Given the description of an element on the screen output the (x, y) to click on. 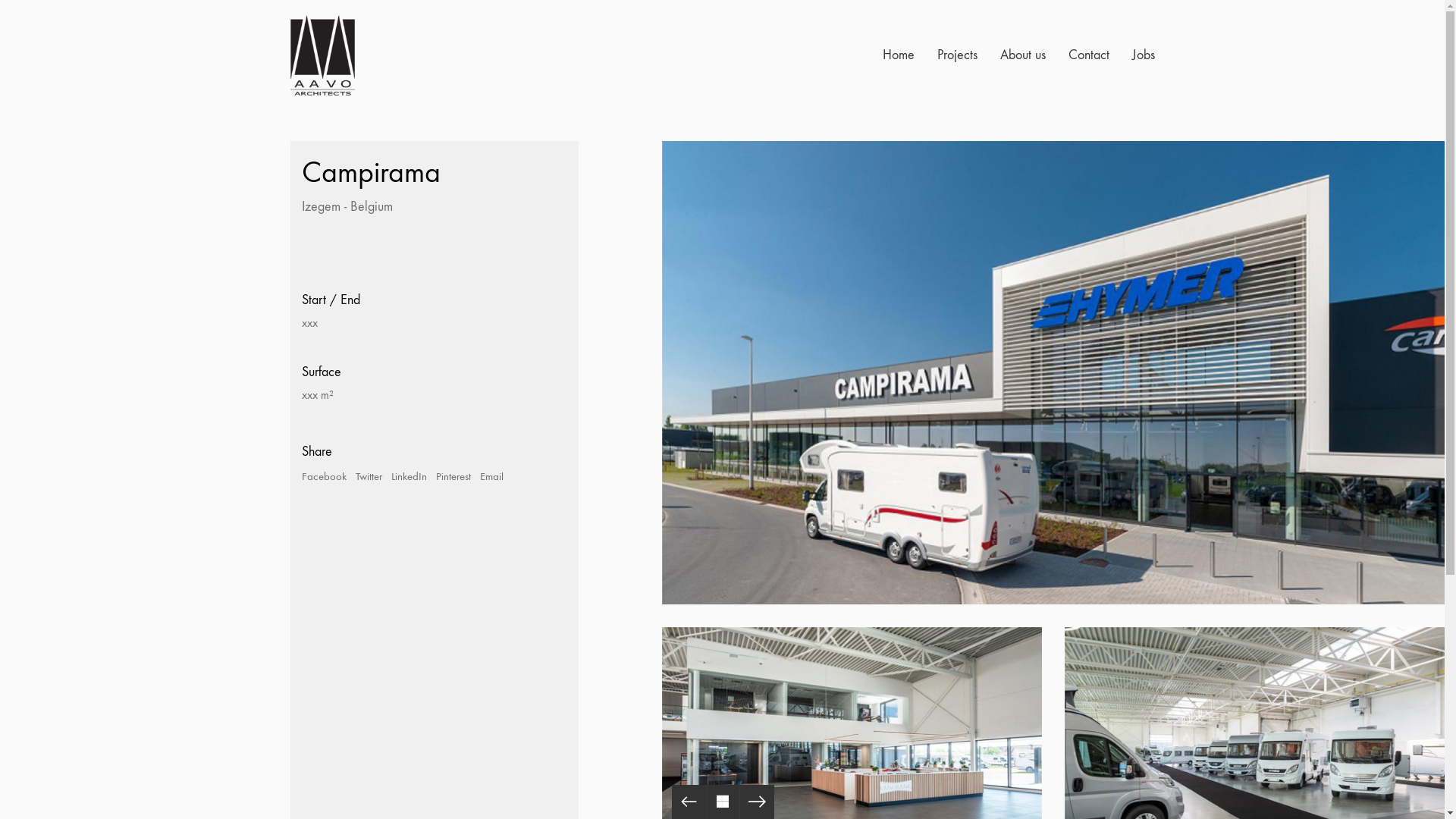
Email Element type: text (490, 476)
About us Element type: text (1021, 55)
Jobs Element type: text (1142, 55)
Contact Element type: text (1087, 55)
Projects Element type: text (957, 55)
LinkedIn Element type: text (408, 476)
Facebook Element type: text (323, 476)
Twitter Element type: text (367, 476)
Home Element type: text (898, 55)
Pinterest Element type: text (452, 476)
